Given the description of an element on the screen output the (x, y) to click on. 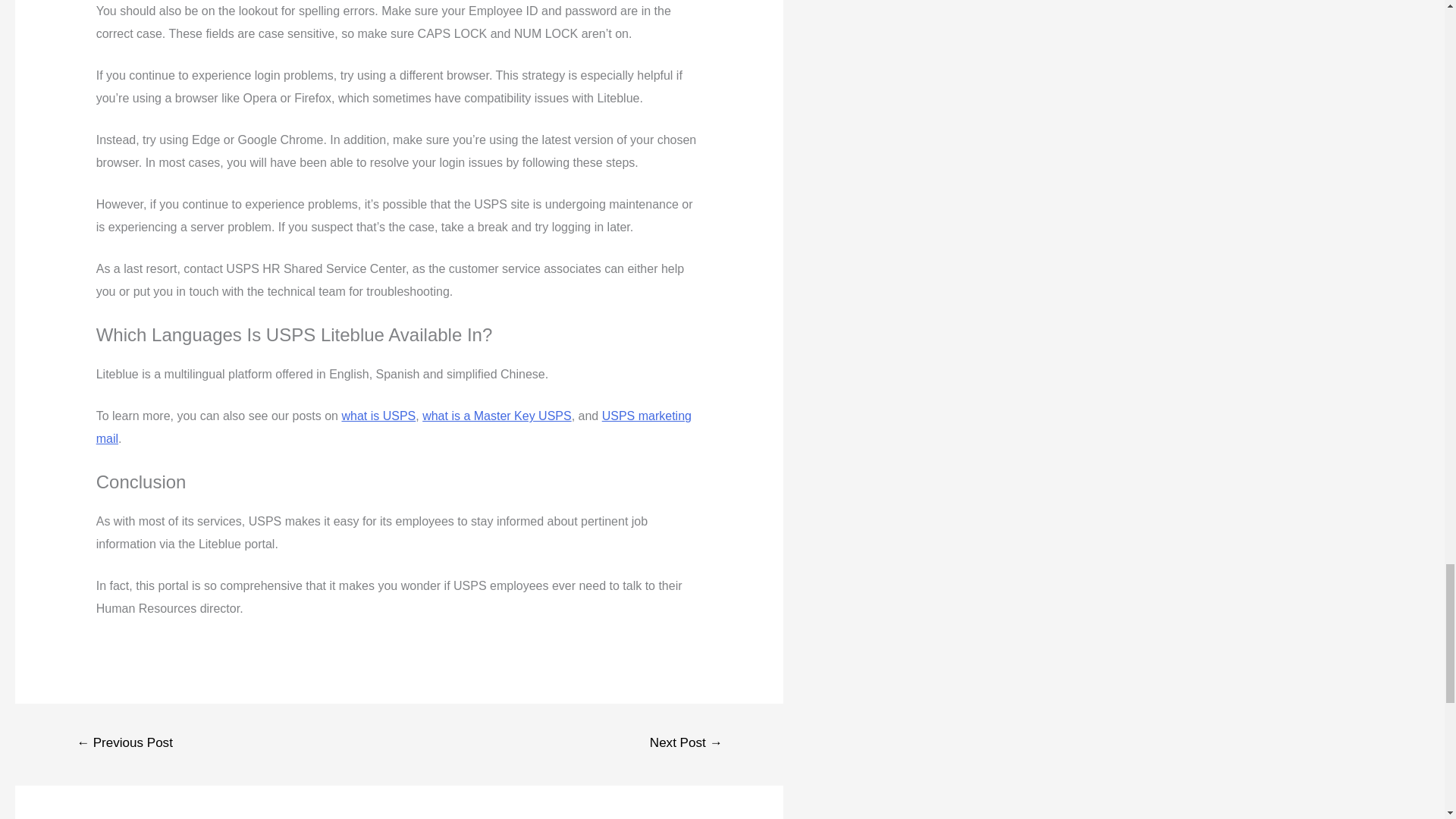
what is a Master Key USPS (497, 415)
USPS marketing mail (393, 427)
what is USPS (377, 415)
